Given the description of an element on the screen output the (x, y) to click on. 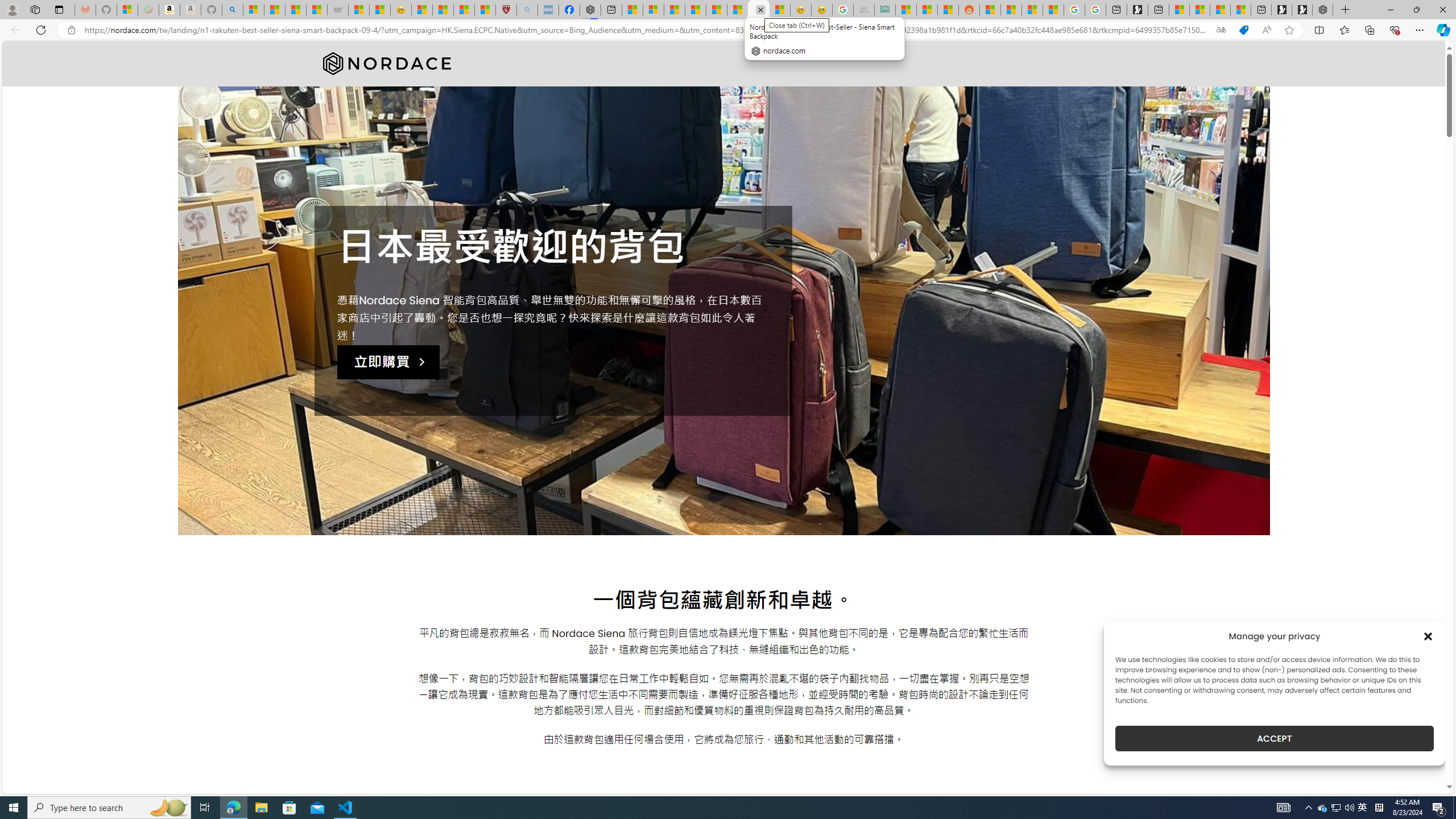
New Tab (1346, 9)
Recipes - MSN (421, 9)
Microsoft Start Gaming (1137, 9)
NCL Adult Asthma Inhaler Choice Guideline - Sleeping (547, 9)
Tab actions menu (58, 9)
Nordace - #1 Japanese Best-Seller - Siena Smart Backpack (759, 9)
